Given the description of an element on the screen output the (x, y) to click on. 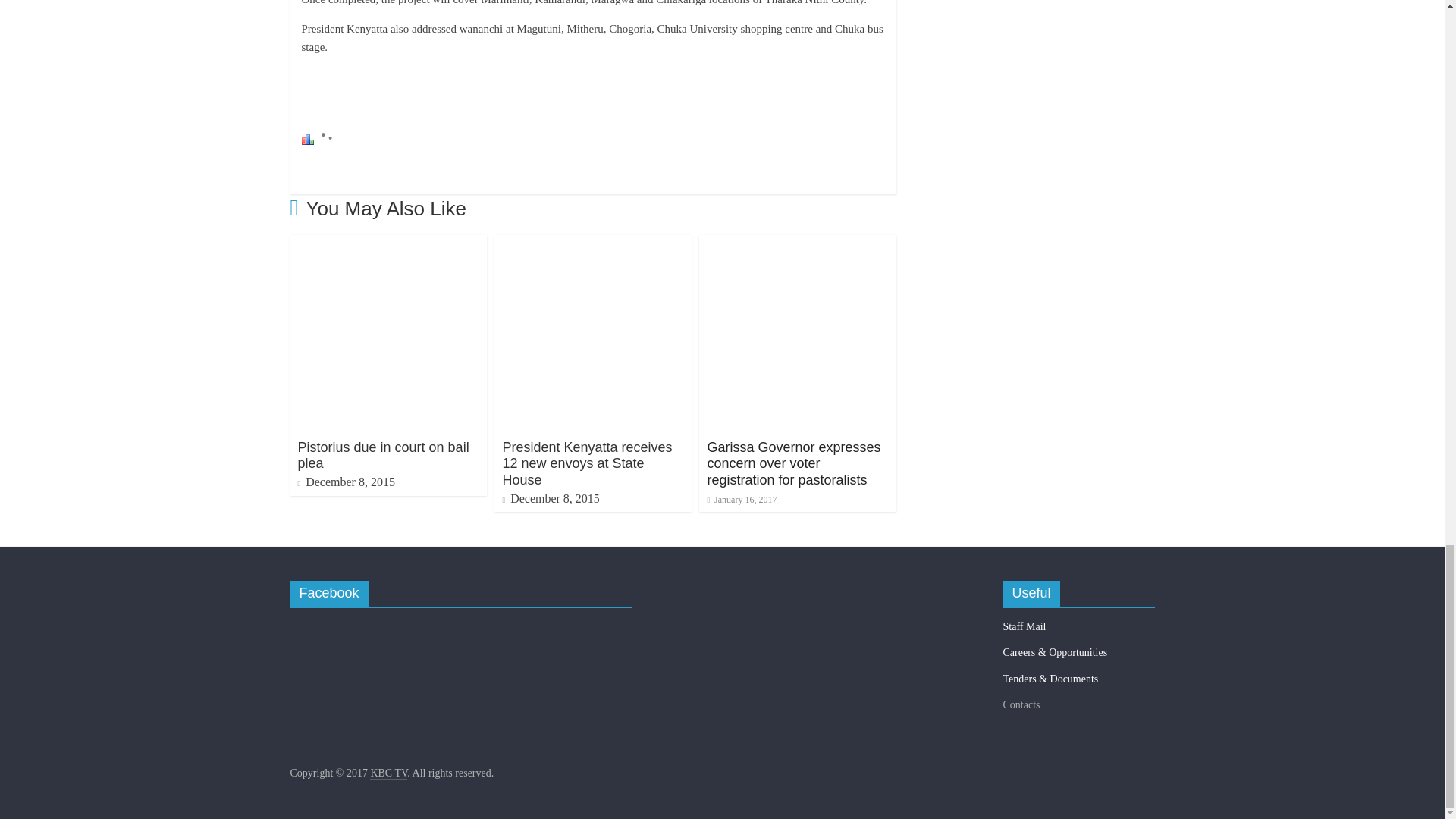
12:00 pm (741, 499)
KBC TV (388, 773)
